Given the description of an element on the screen output the (x, y) to click on. 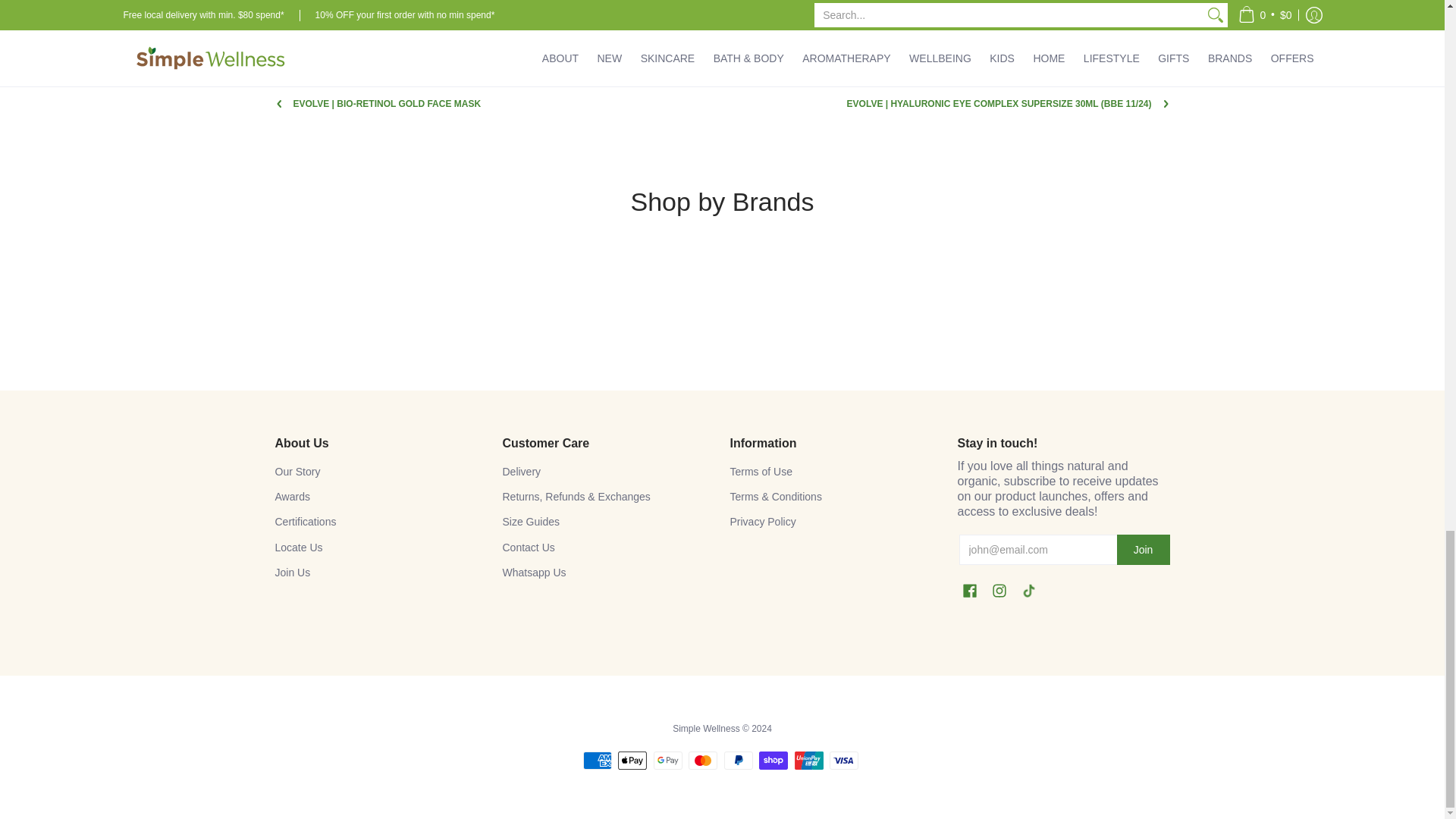
Apple Pay (631, 760)
Google Pay (667, 760)
American Express (597, 760)
